Given the description of an element on the screen output the (x, y) to click on. 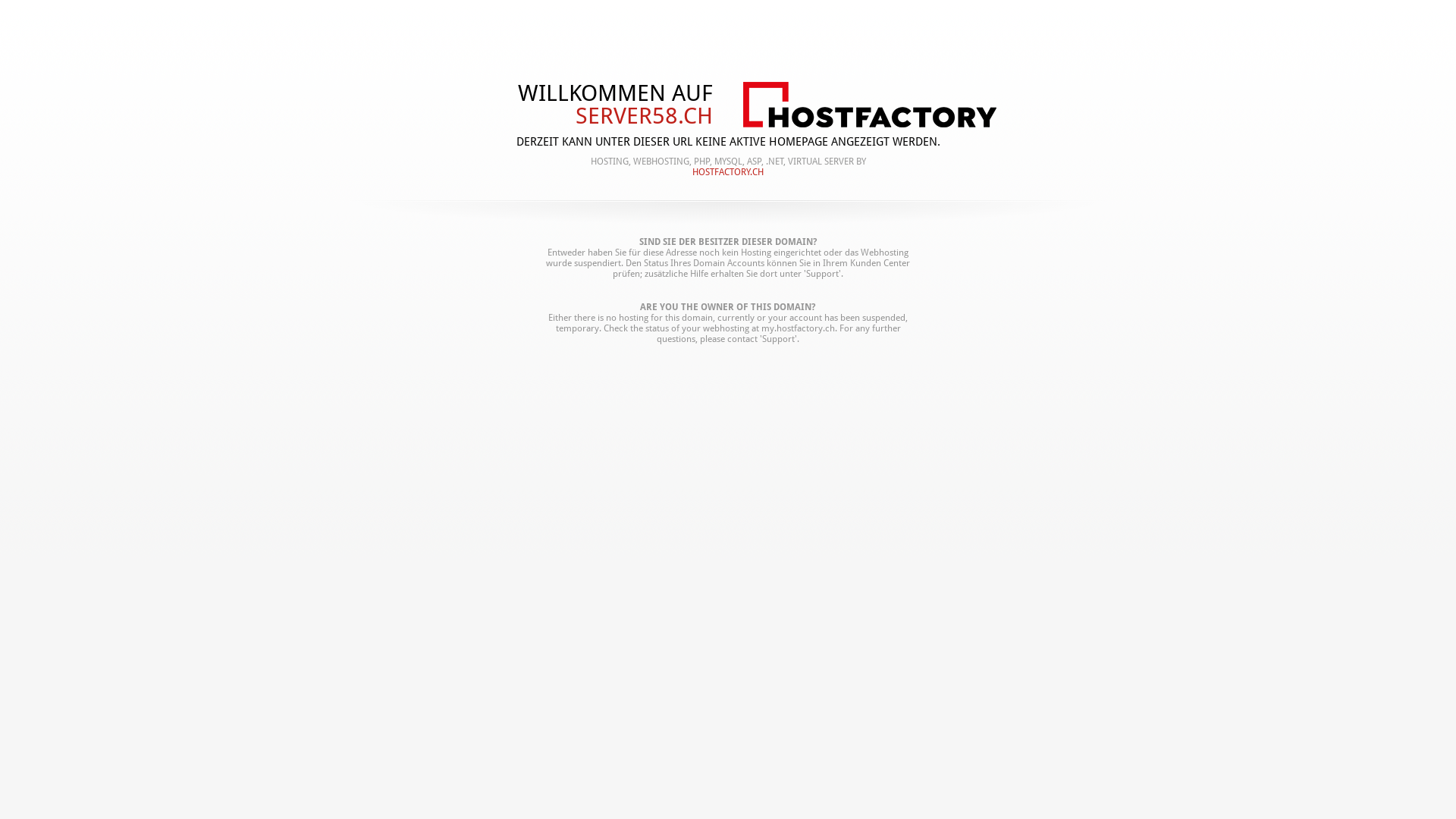
SERVER58.CH Element type: text (530, 115)
HOSTFACTORY.CH Element type: text (727, 171)
